Given the description of an element on the screen output the (x, y) to click on. 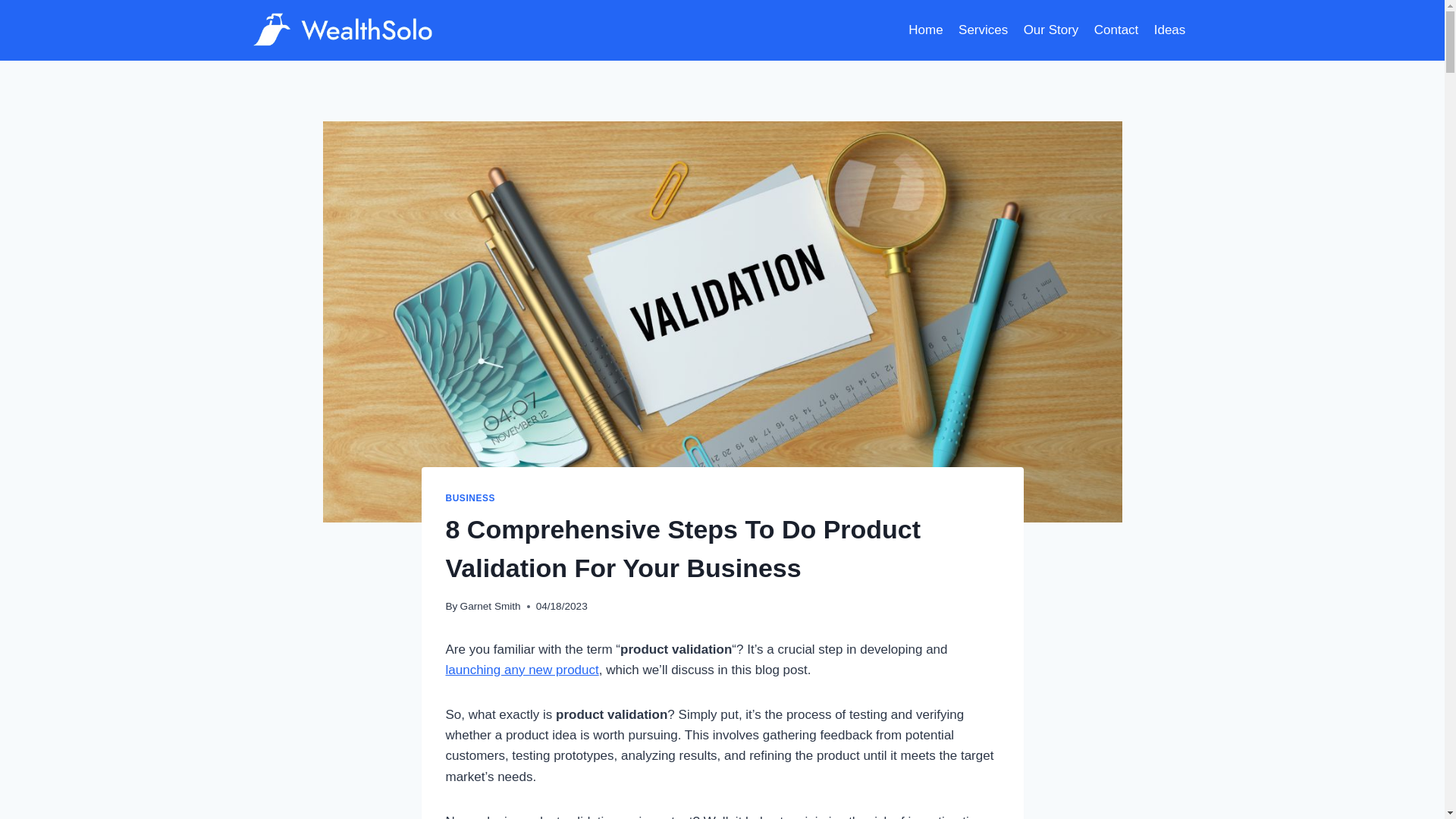
Our Story (1050, 30)
Ideas (1170, 30)
Services (983, 30)
Contact (1116, 30)
launching any new product (521, 669)
BUSINESS (470, 498)
Garnet Smith (490, 605)
Home (925, 30)
